Given the description of an element on the screen output the (x, y) to click on. 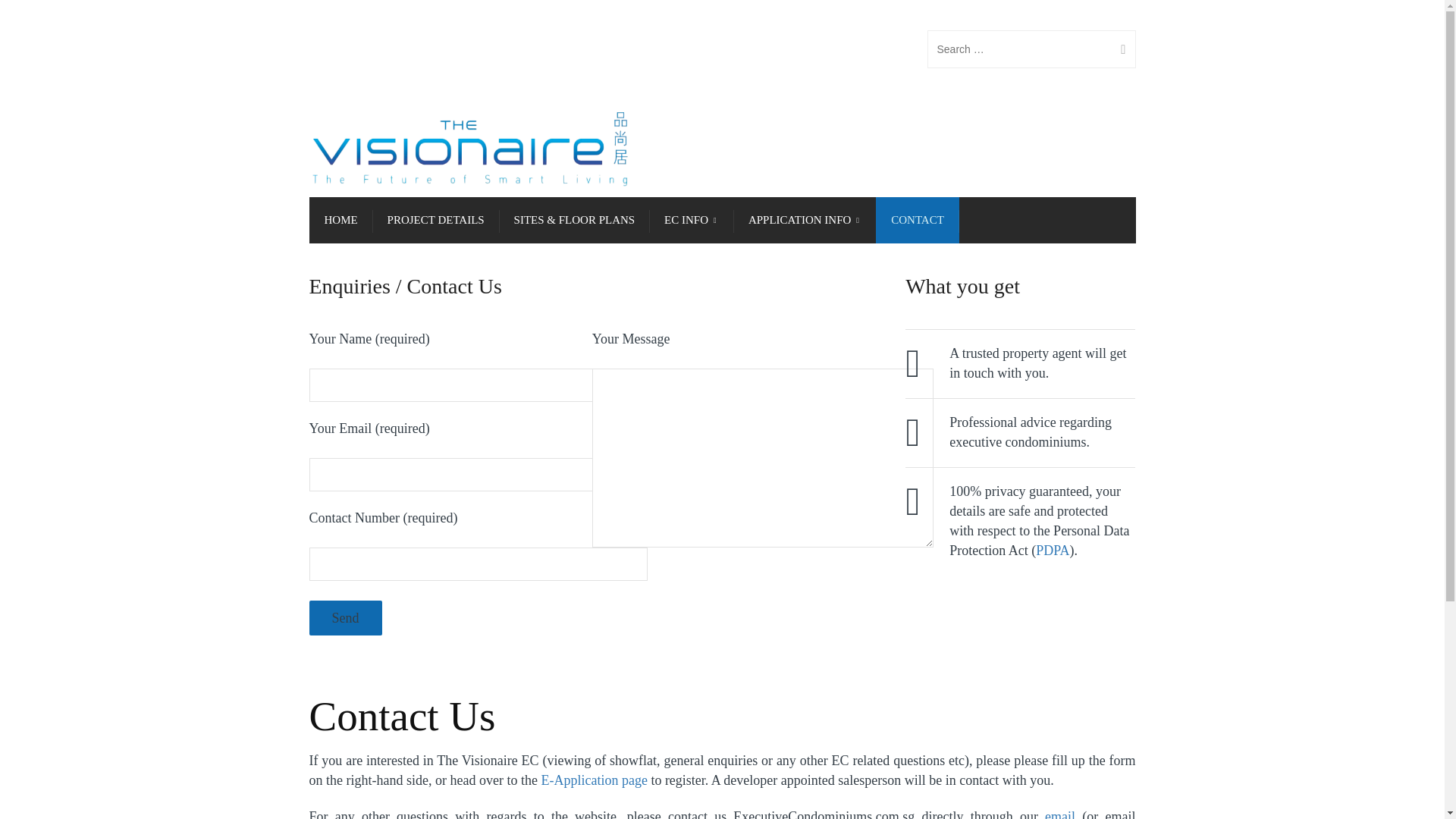
Search (1117, 48)
CONTACT (917, 220)
HOME (340, 220)
E-Application Registration (593, 780)
PROJECT DETAILS (435, 220)
EC INFO (691, 220)
Search (1117, 48)
Contact Executive Condominiums Singapore (1060, 814)
Send (344, 617)
APPLICATION INFO (804, 220)
